Given the description of an element on the screen output the (x, y) to click on. 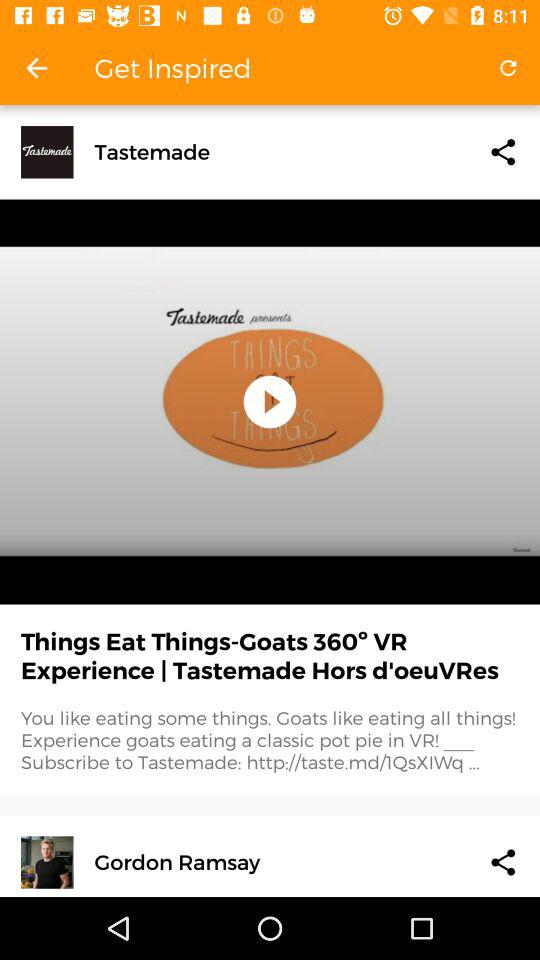
share the article (503, 152)
